Given the description of an element on the screen output the (x, y) to click on. 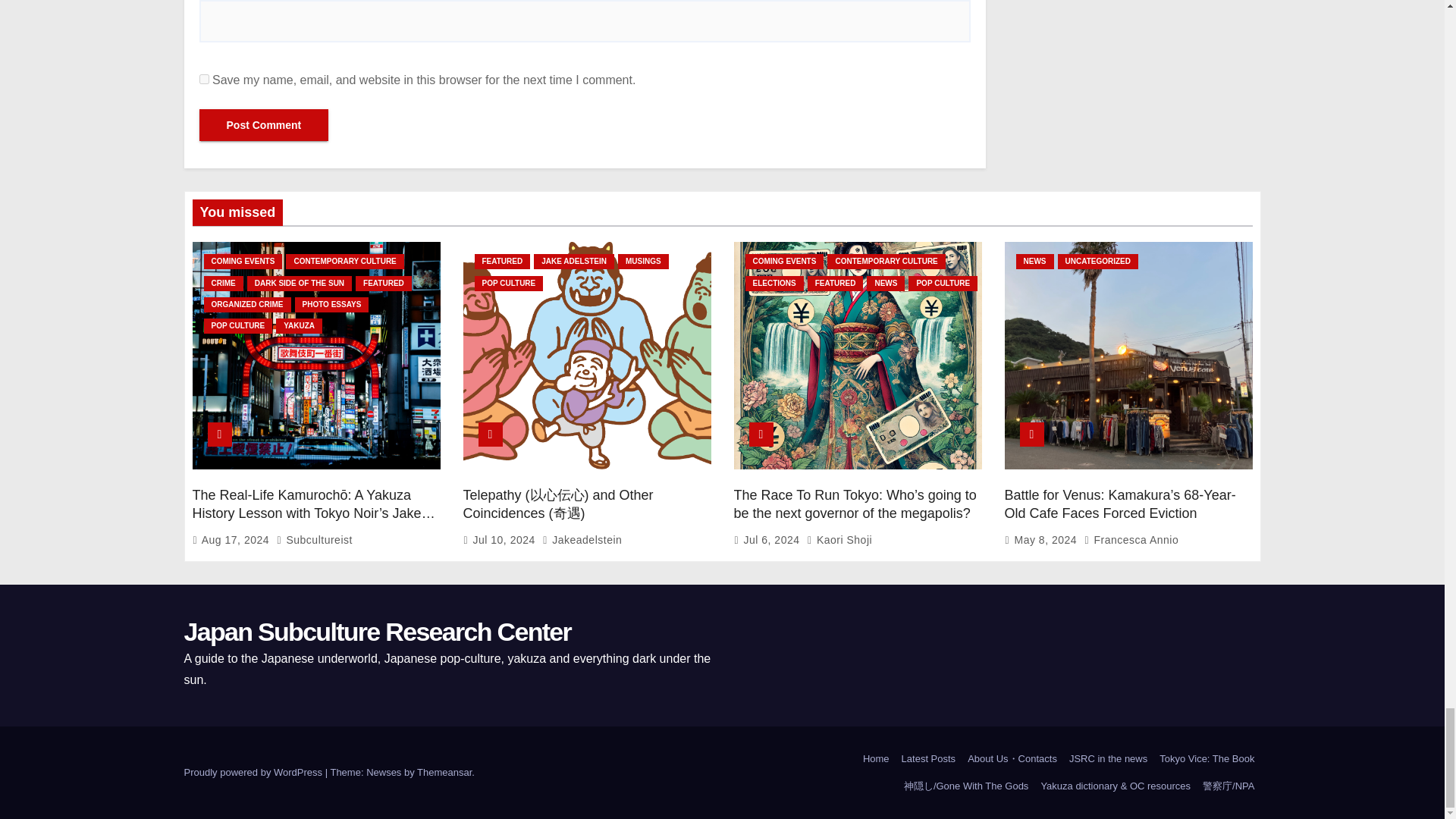
Post Comment (263, 124)
Home (876, 759)
yes (203, 79)
